Given the description of an element on the screen output the (x, y) to click on. 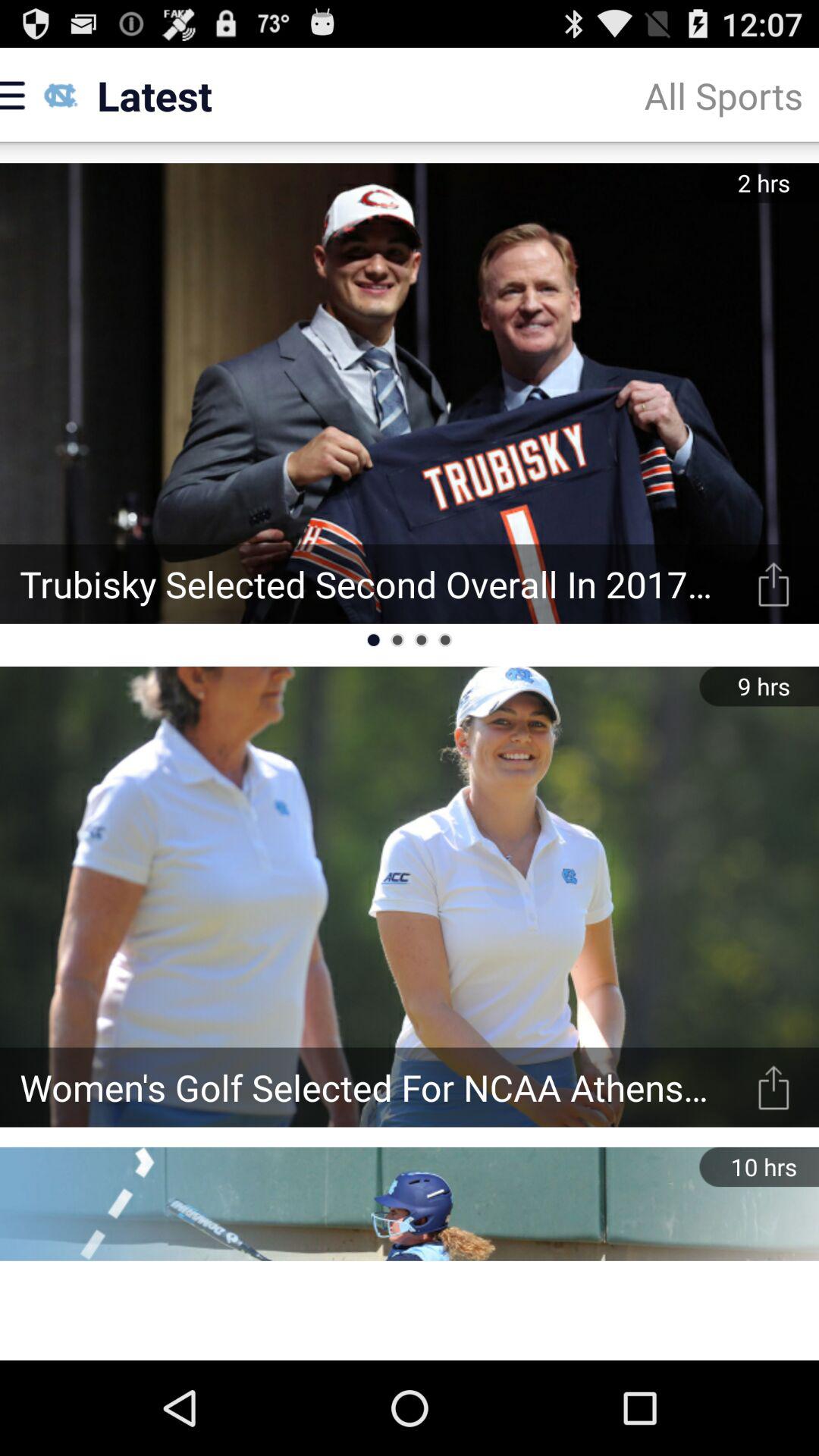
click on the share option in the first picture (773, 584)
